Given the description of an element on the screen output the (x, y) to click on. 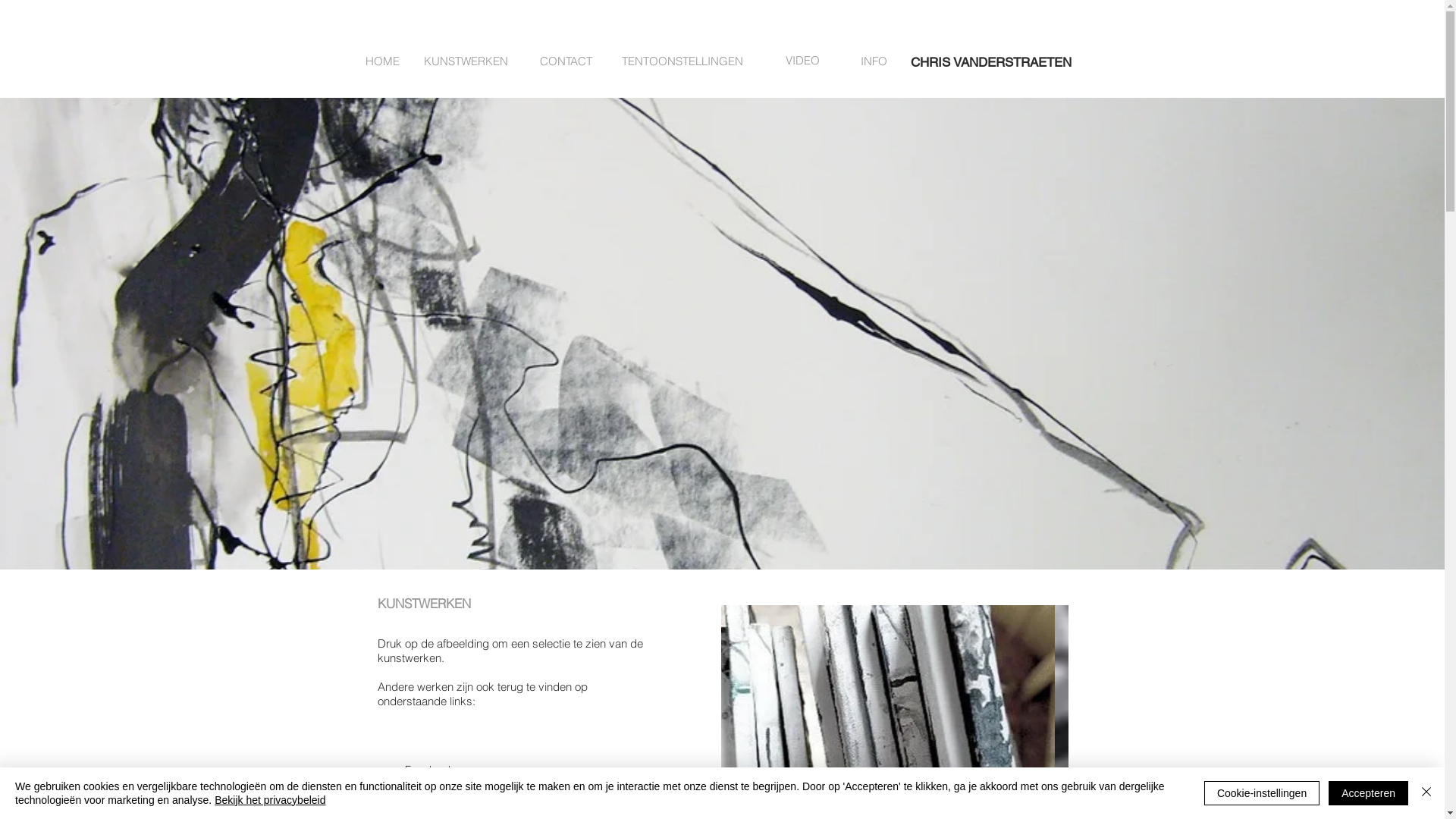
KUNSTWERKEN Element type: text (465, 60)
Cookie-instellingen Element type: text (1261, 793)
         Artstack Element type: text (410, 796)
VIDEO Element type: text (802, 60)
HOME Element type: text (382, 60)
INFO Element type: text (873, 60)
         Facebook Element type: text (415, 769)
TENTOONSTELLINGEN Element type: text (682, 60)
CONTACT Element type: text (565, 60)
           Element type: text (392, 810)
Bekijk het privacybeleid Element type: text (269, 799)
Accepteren Element type: text (1368, 793)
